Given the description of an element on the screen output the (x, y) to click on. 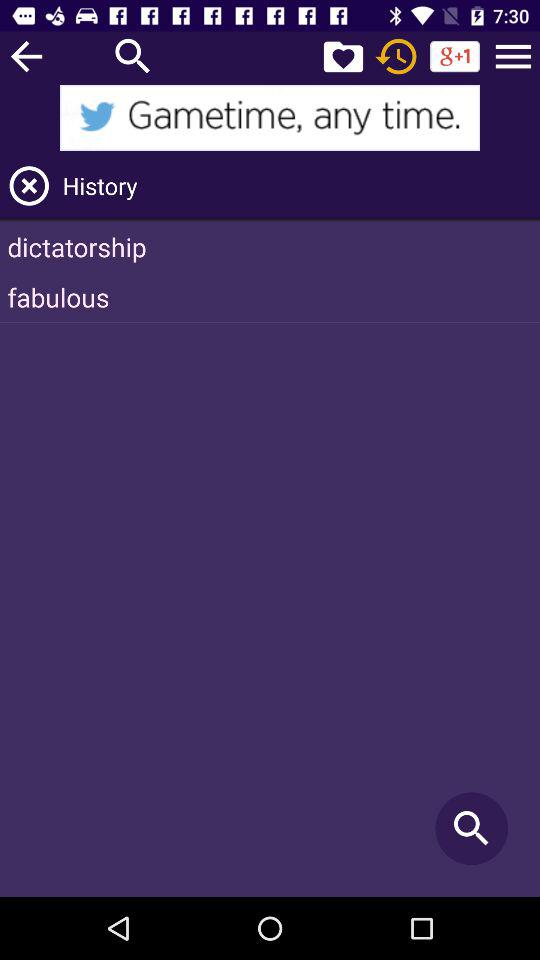
search (133, 56)
